Given the description of an element on the screen output the (x, y) to click on. 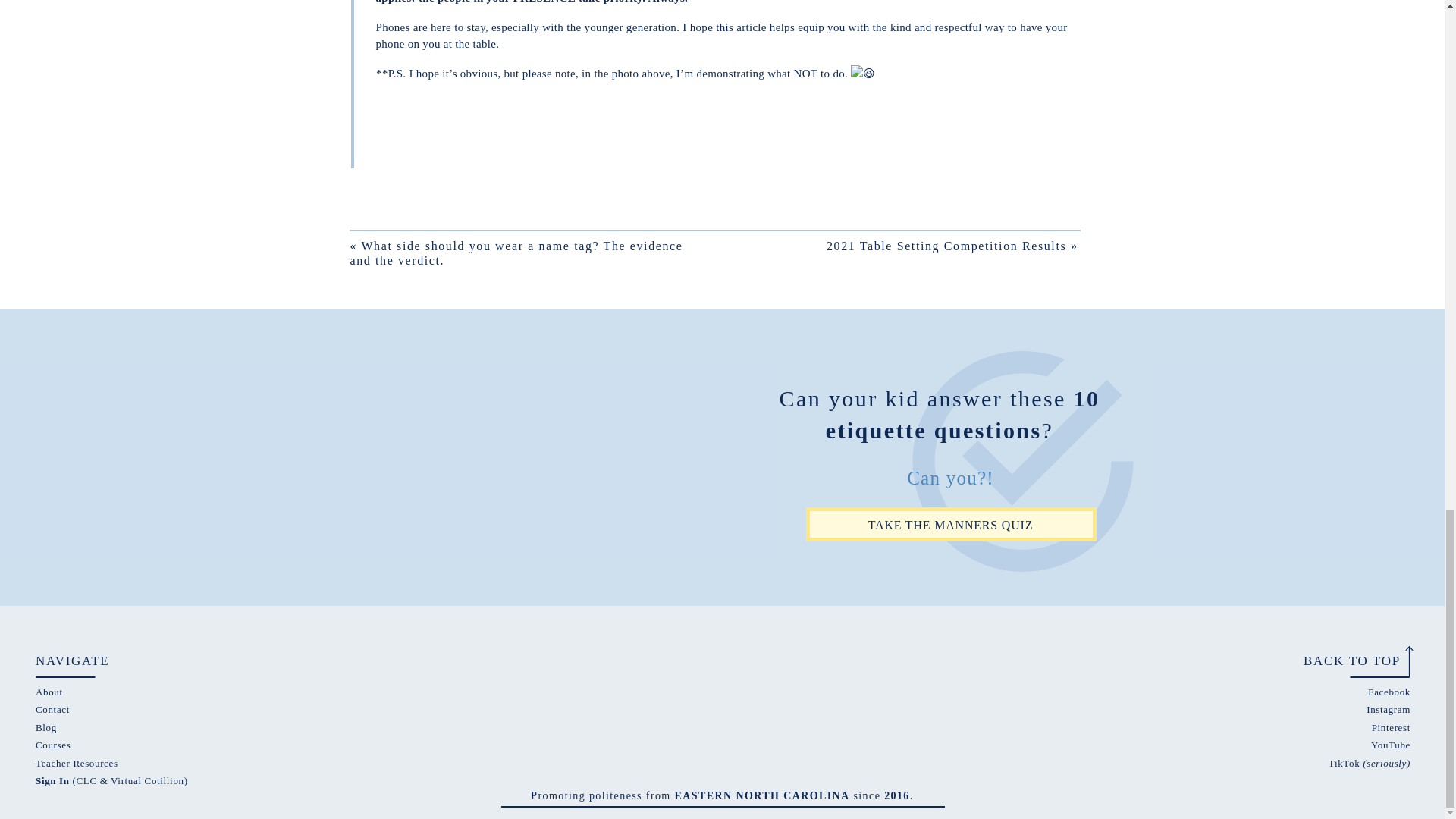
BACK TO TOP (1343, 660)
Courses (51, 745)
Teacher Resources (75, 763)
2021 Table Setting Competition Results (946, 245)
Blog (45, 727)
Contact (51, 708)
About (48, 691)
TAKE THE MANNERS QUIZ (949, 524)
